Given the description of an element on the screen output the (x, y) to click on. 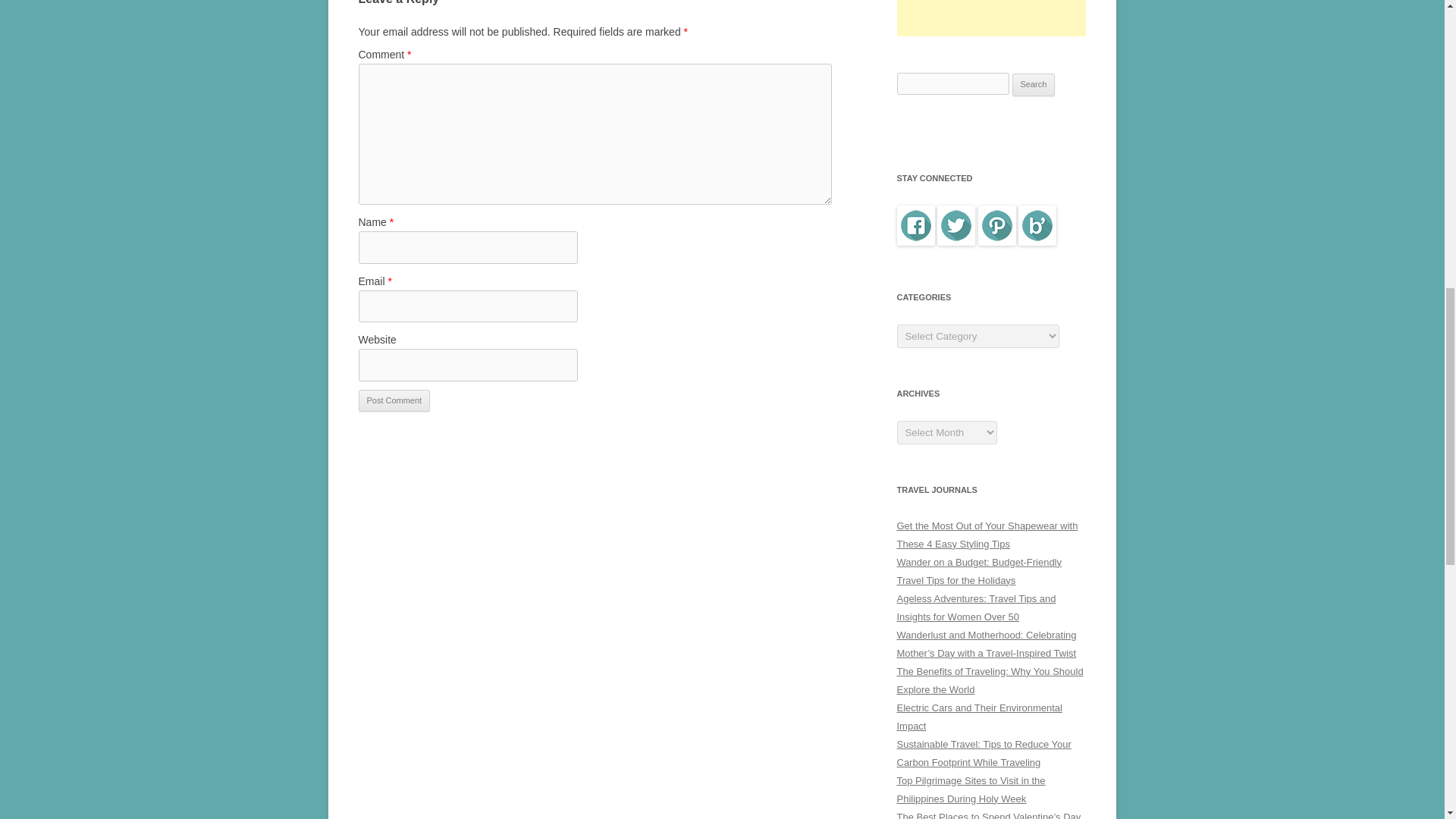
Post Comment (393, 400)
Post Comment (393, 400)
Electric Cars and Their Environmental Impact (978, 716)
Advertisement (991, 18)
The Benefits of Traveling: Why You Should Explore the World (989, 680)
Search (1033, 84)
